Given the description of an element on the screen output the (x, y) to click on. 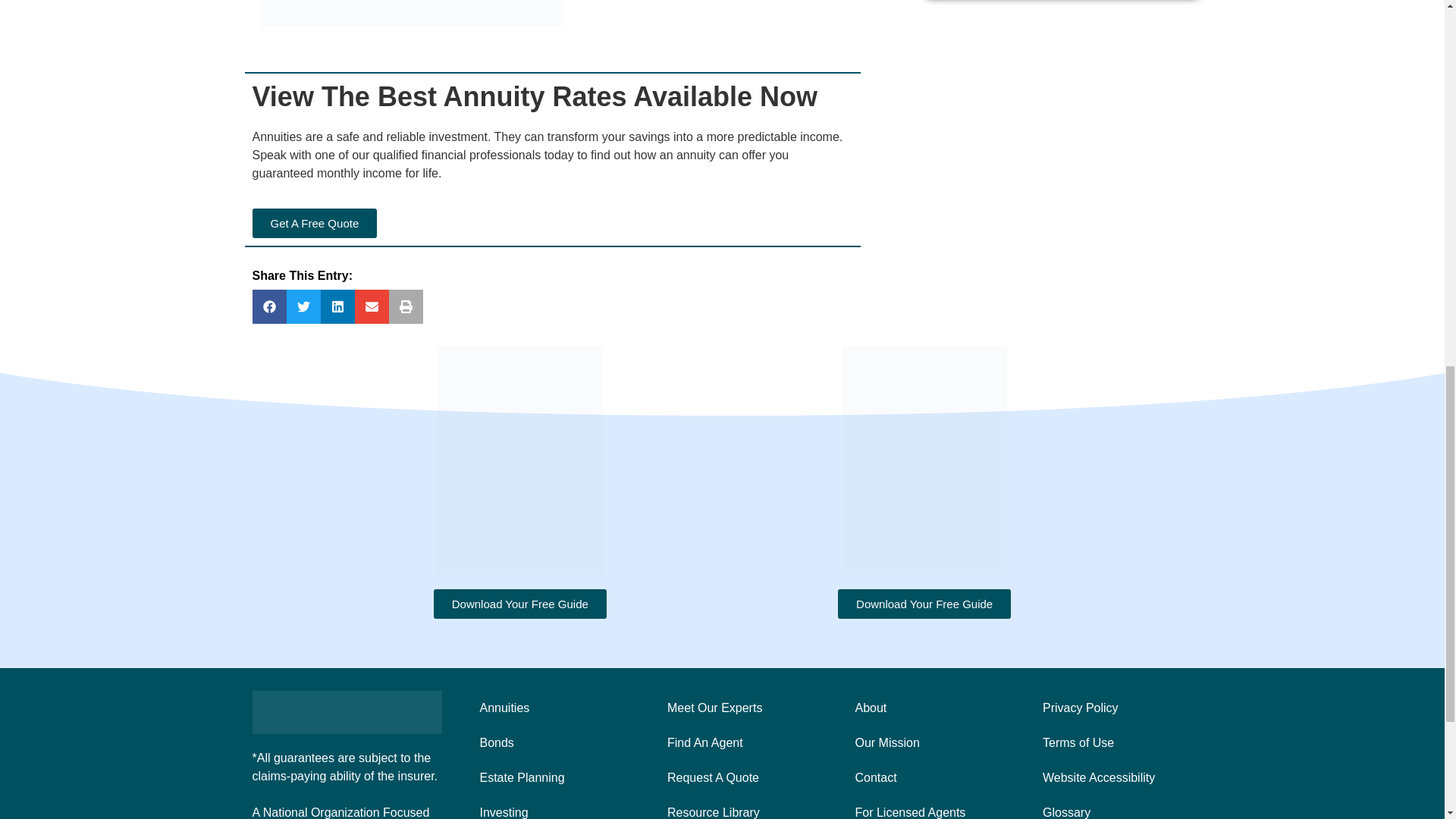
Bonds (549, 742)
Estate Planning (549, 777)
Get A Free Quote (314, 223)
Download Your Free Guide (520, 603)
Download Your Free Guide (924, 603)
Annuities (549, 708)
Investing (549, 807)
